Given the description of an element on the screen output the (x, y) to click on. 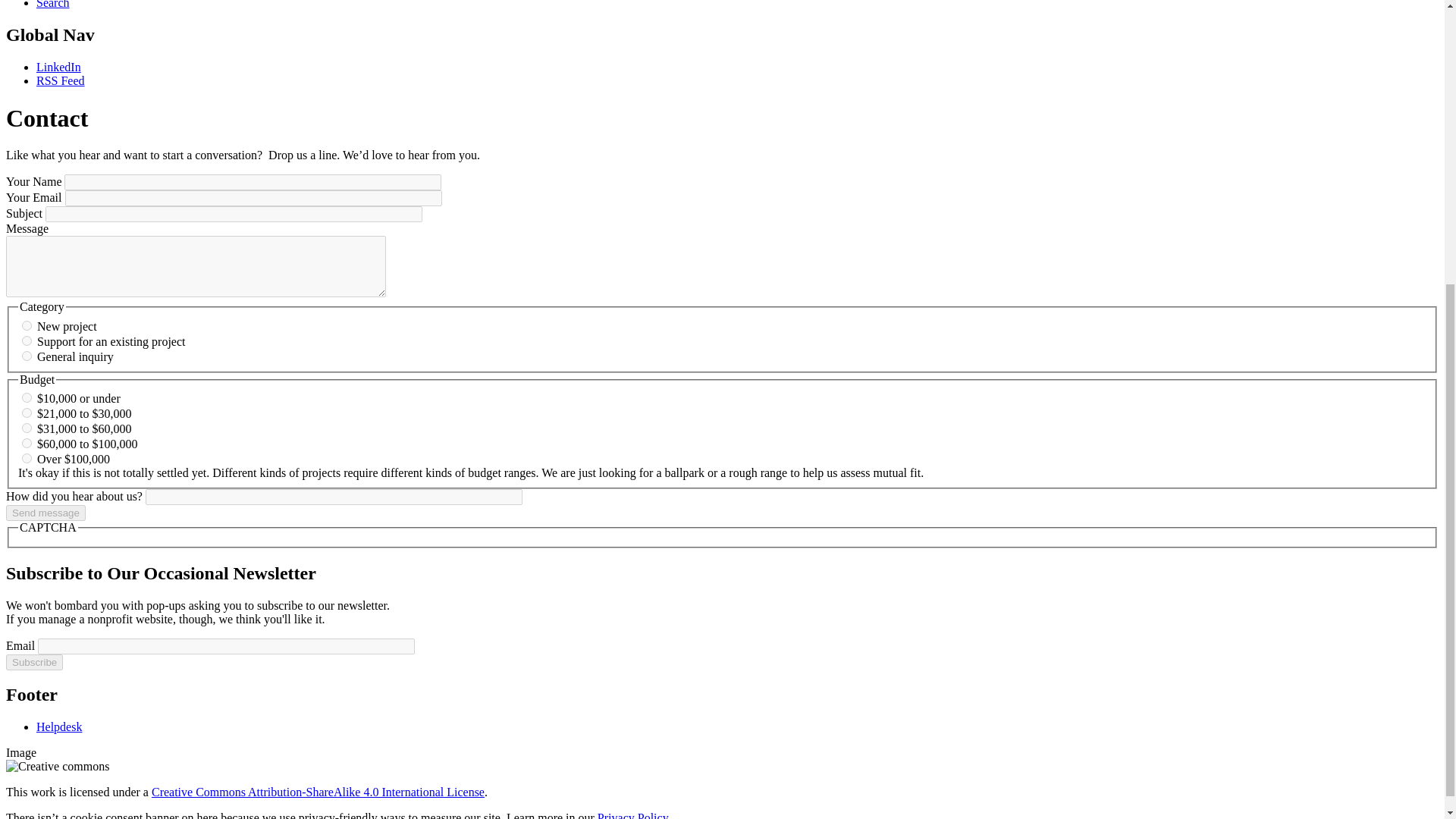
Subscribe (33, 662)
Send message (45, 512)
Send message (45, 512)
RSS Feed (60, 80)
LinkedIn (58, 66)
Subscribe (33, 662)
Support for an existing project (26, 340)
General inquiry (26, 356)
Helpdesk (58, 726)
